Given the description of an element on the screen output the (x, y) to click on. 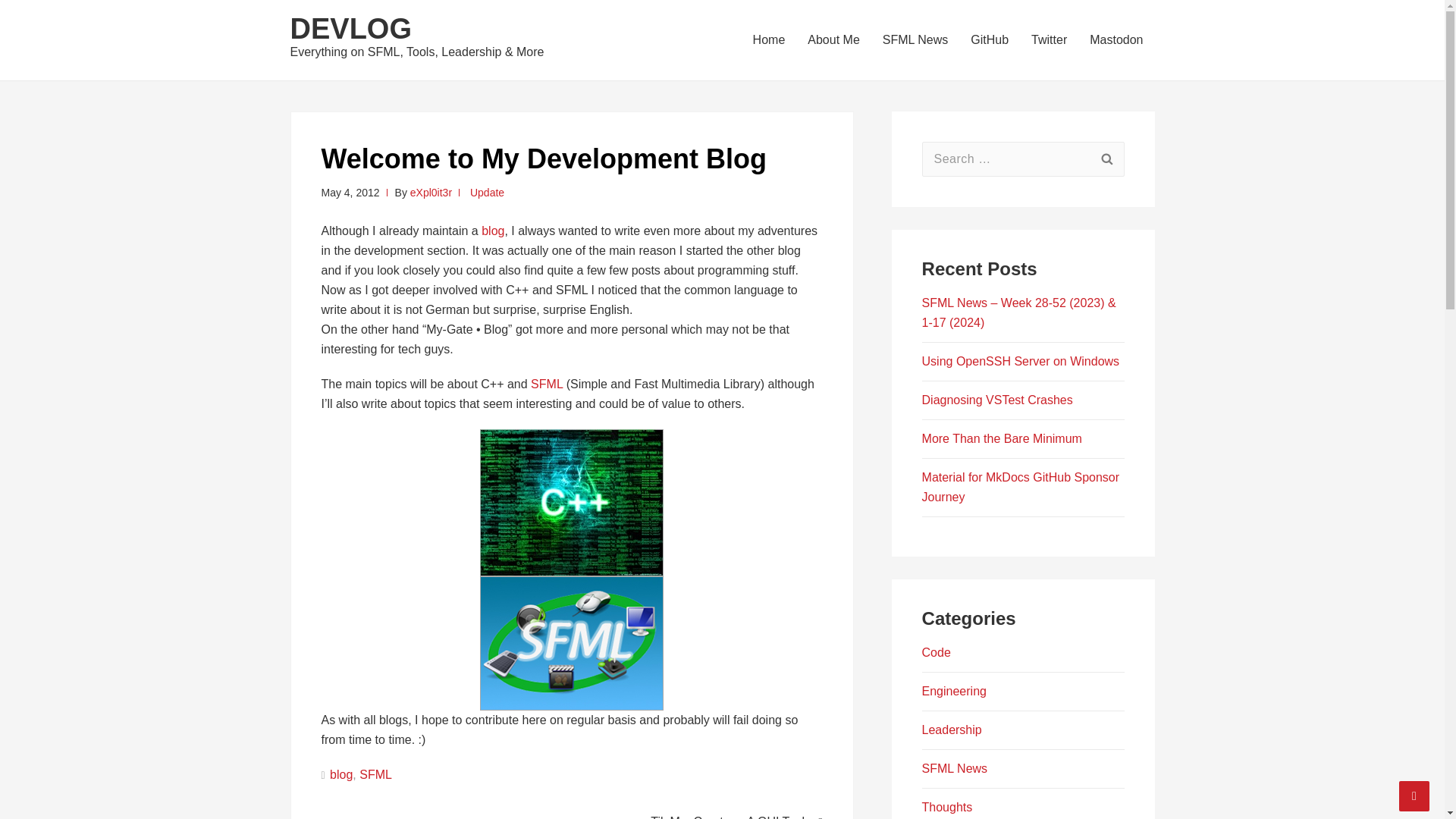
blog (492, 230)
Using OpenSSH Server on Windows (1020, 360)
SFML (546, 383)
Home (768, 39)
GitHub (989, 39)
SFML (375, 774)
Update (486, 192)
Thoughts (946, 807)
eXpl0it3r (430, 192)
About Me (833, 39)
Search (1106, 158)
More Than the Bare Minimum (1001, 438)
Search (1106, 158)
Leadership (951, 729)
View all posts by eXpl0it3r (430, 192)
